Given the description of an element on the screen output the (x, y) to click on. 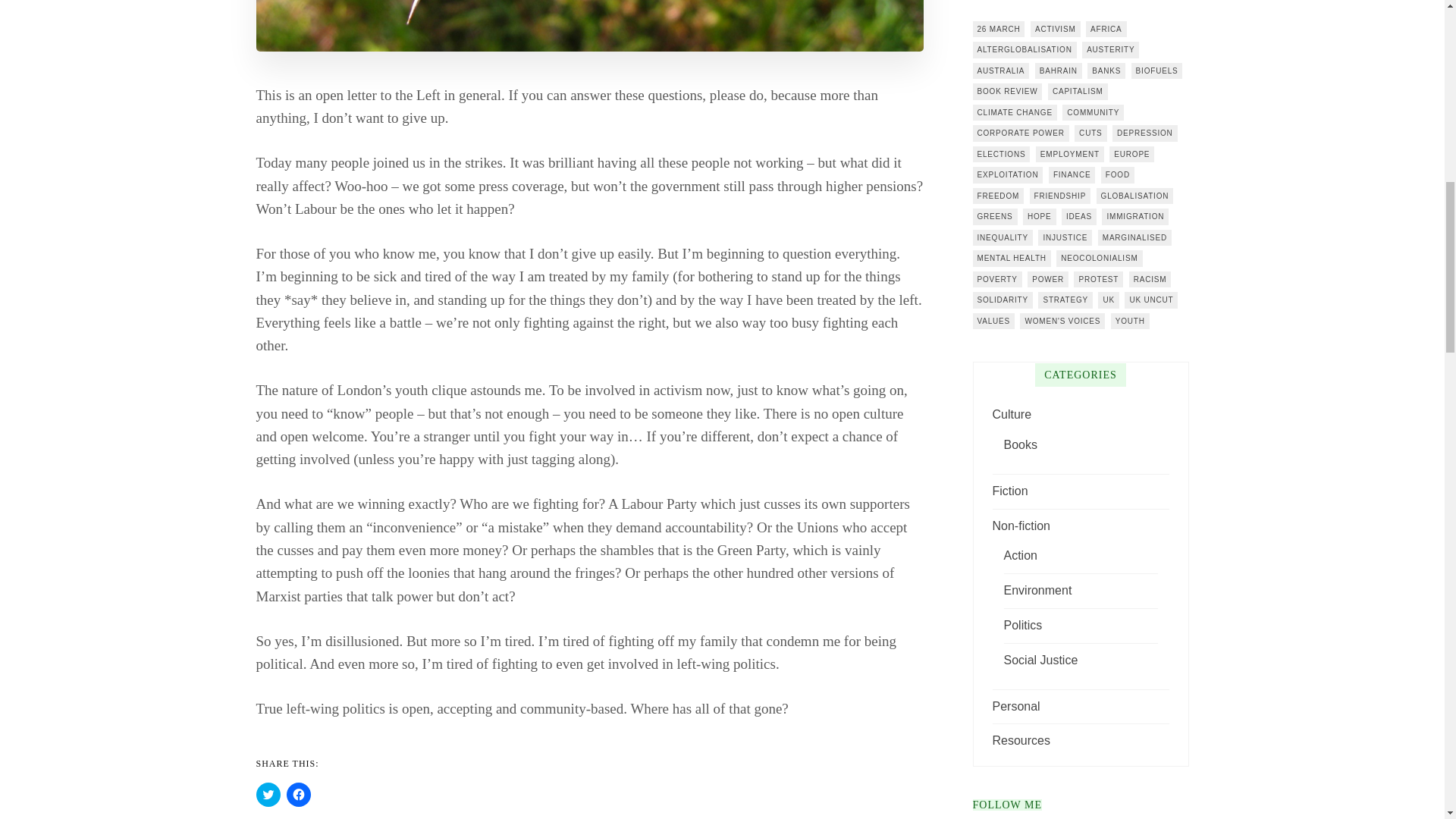
Tweet (349, 54)
Lefties - unite! (1143, 54)
Share on Twitter (349, 54)
Share (285, 54)
Click to share on Twitter (268, 794)
Click to share on Facebook (298, 794)
Share on Facebook (285, 54)
Pin It (415, 54)
Pin it on Pinterest (415, 54)
